Given the description of an element on the screen output the (x, y) to click on. 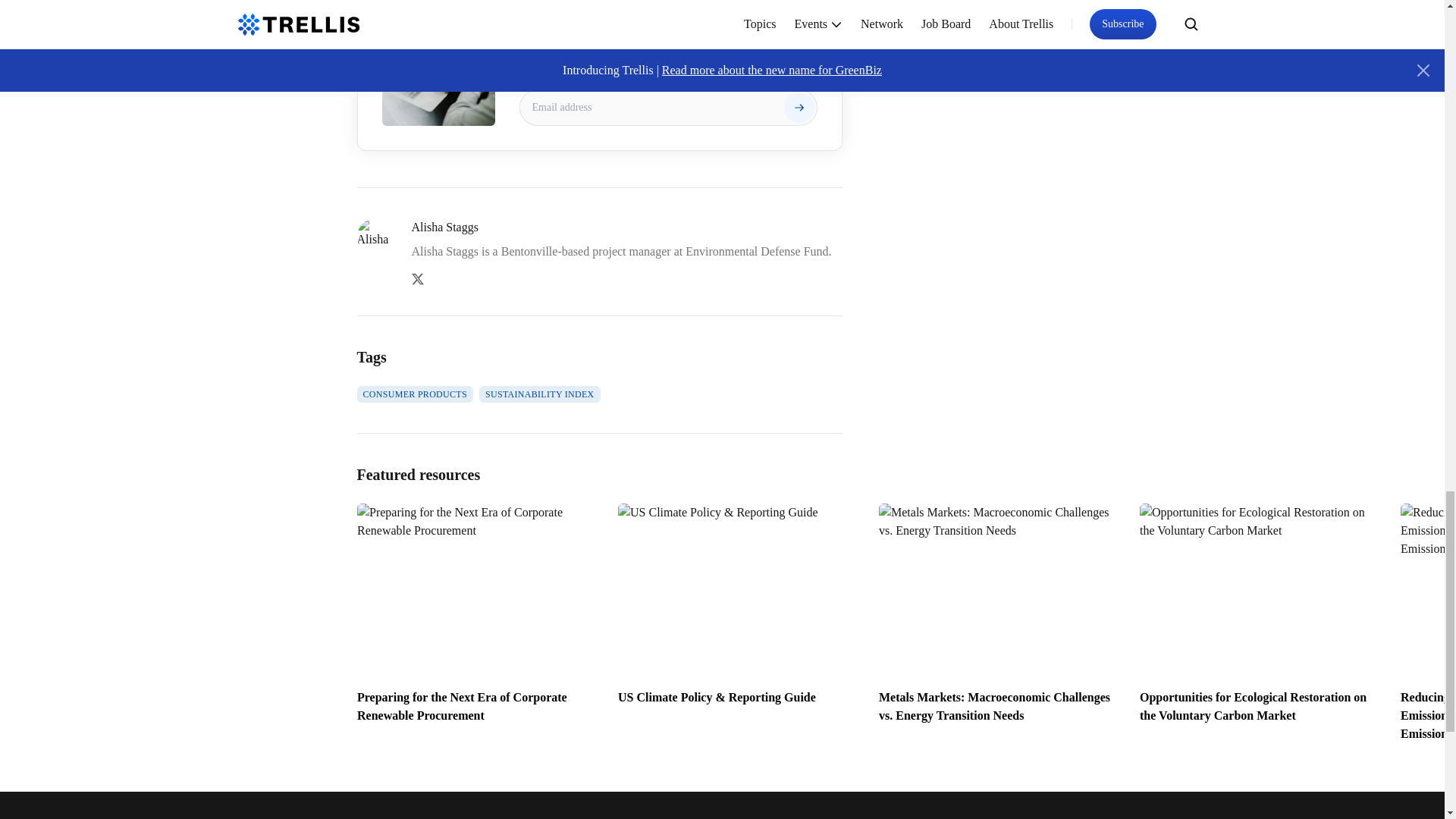
Subscribe (798, 107)
Alisha Staggs (625, 227)
